Given the description of an element on the screen output the (x, y) to click on. 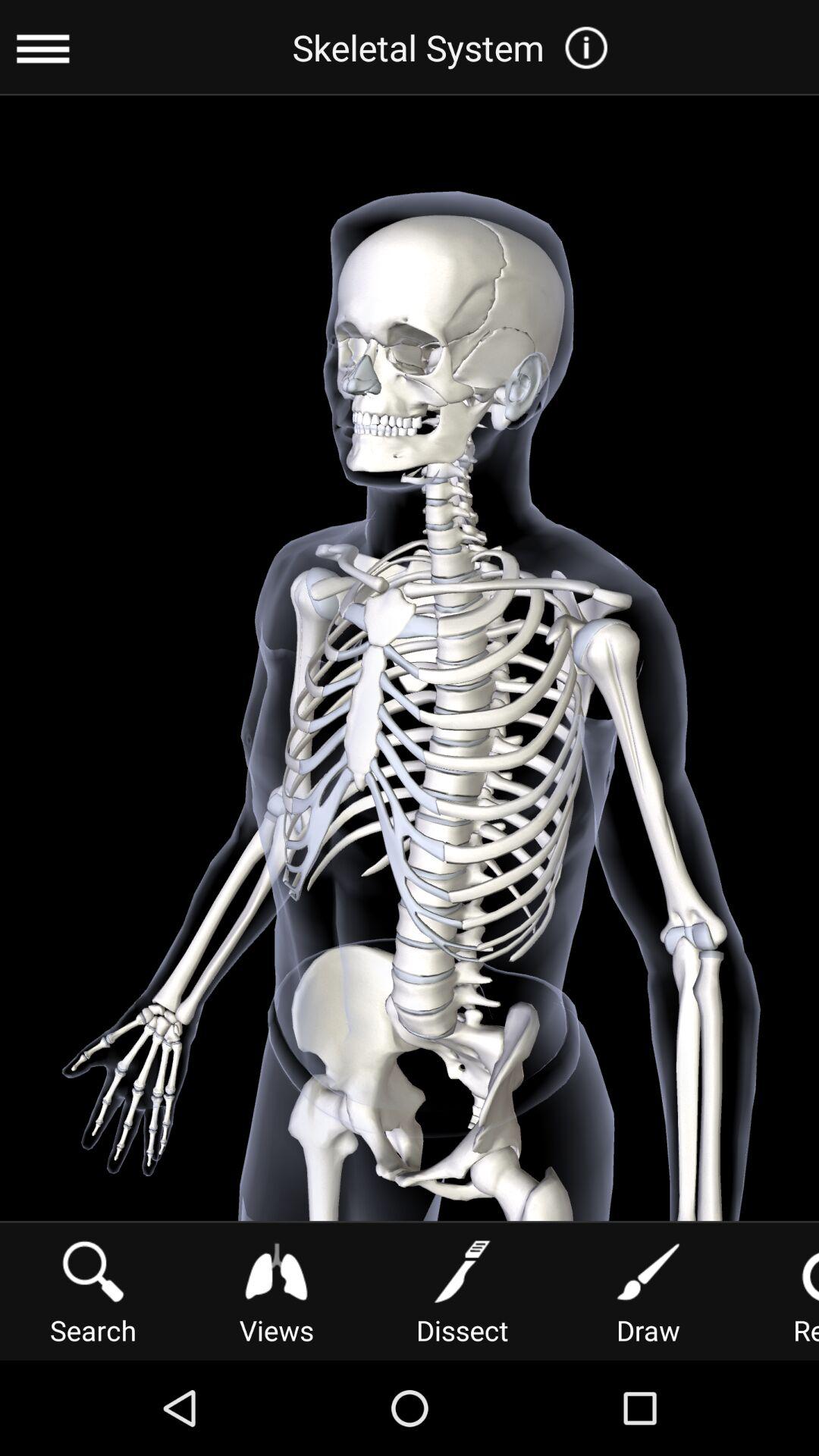
jump until draw icon (648, 1290)
